Given the description of an element on the screen output the (x, y) to click on. 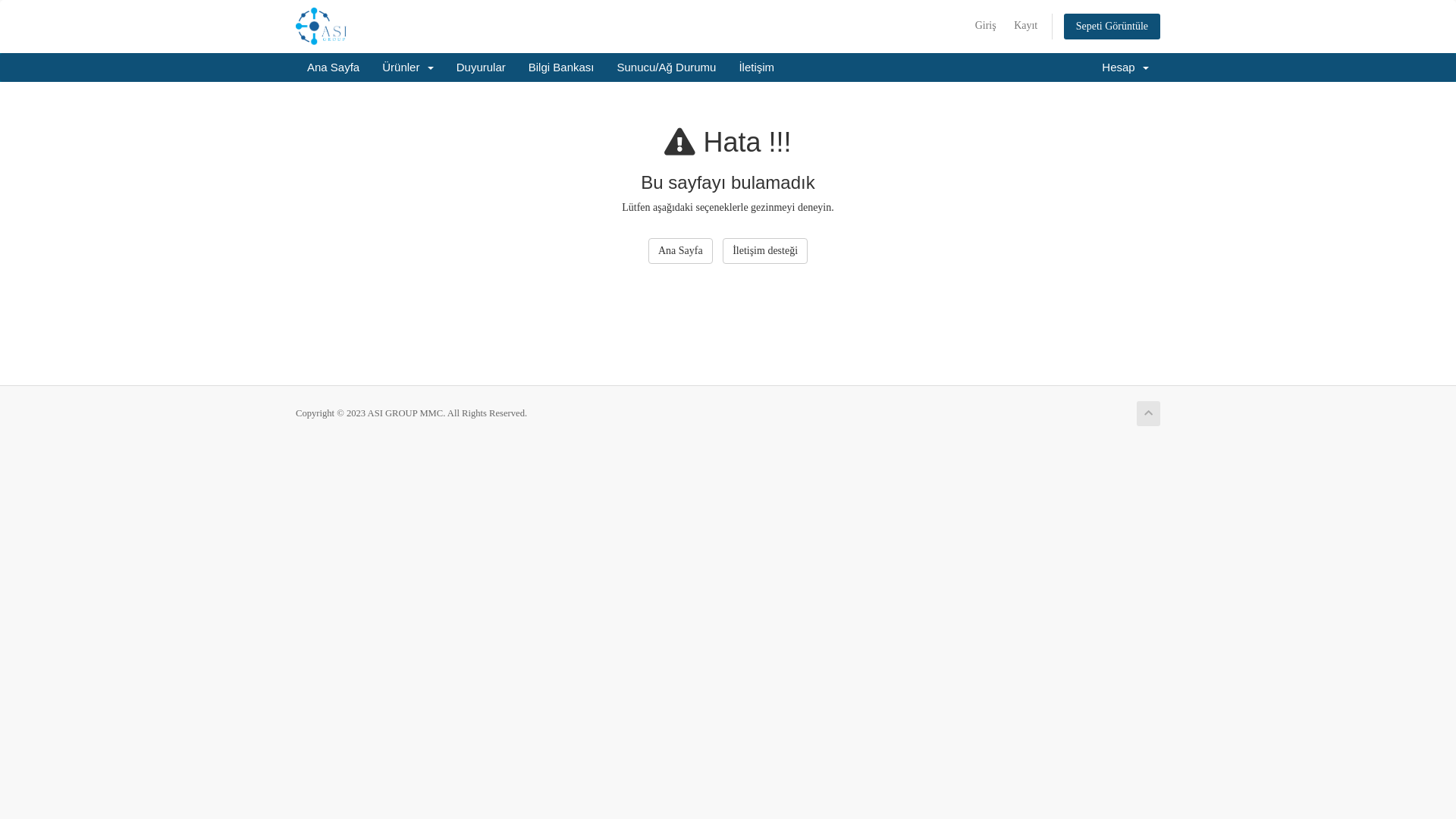
Duyurular Element type: text (481, 67)
Hesap   Element type: text (1125, 67)
Ana Sayfa Element type: text (680, 250)
Ana Sayfa Element type: text (332, 67)
